Given the description of an element on the screen output the (x, y) to click on. 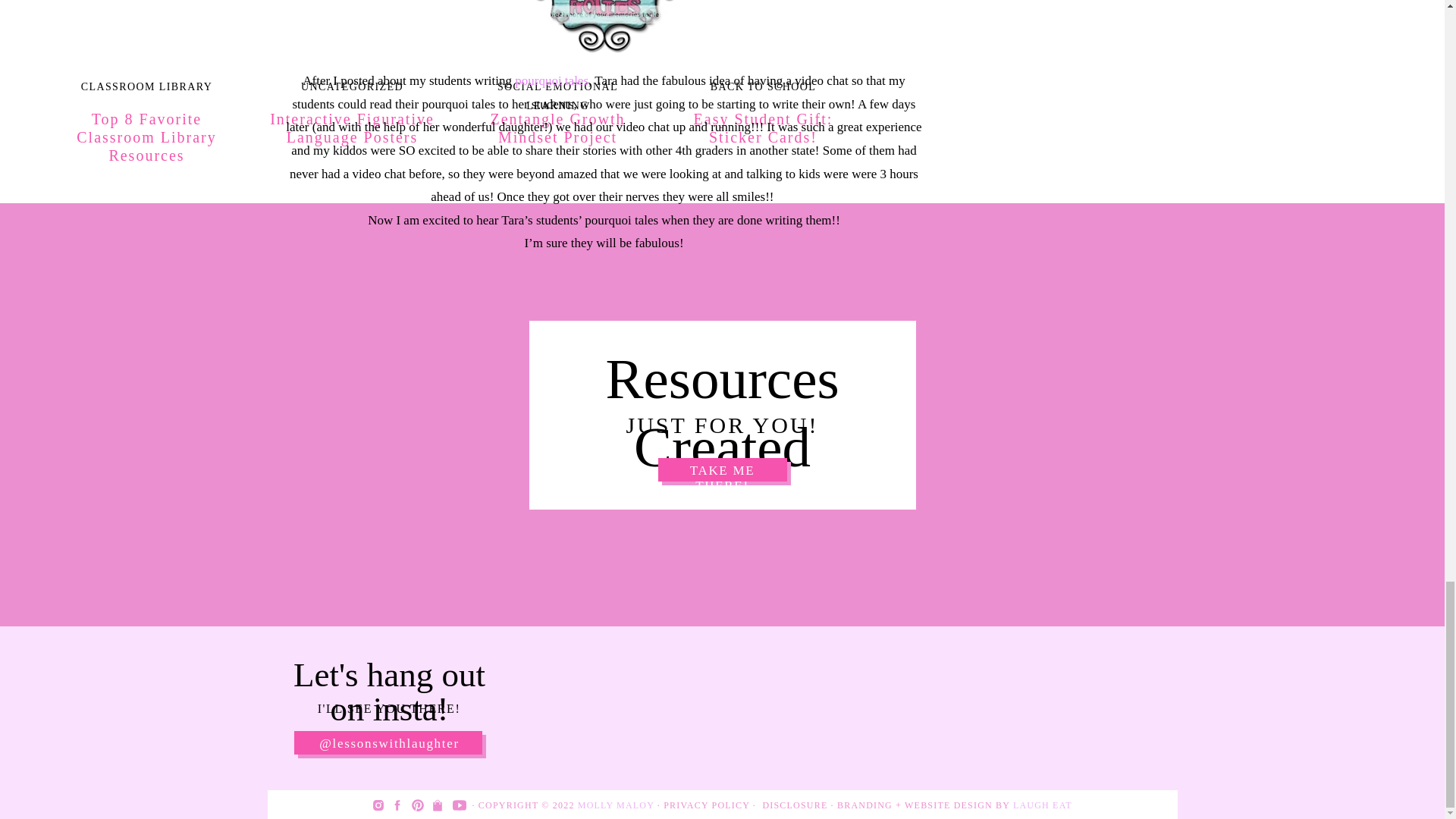
pourquoi tales (551, 80)
Top 8 Favorite Classroom Library Resources (146, 31)
Zentangle Growth Mindset Project (557, 31)
Easy Student Gift: Sticker Cards! (763, 31)
Interactive Figurative Language Posters (352, 31)
